Given the description of an element on the screen output the (x, y) to click on. 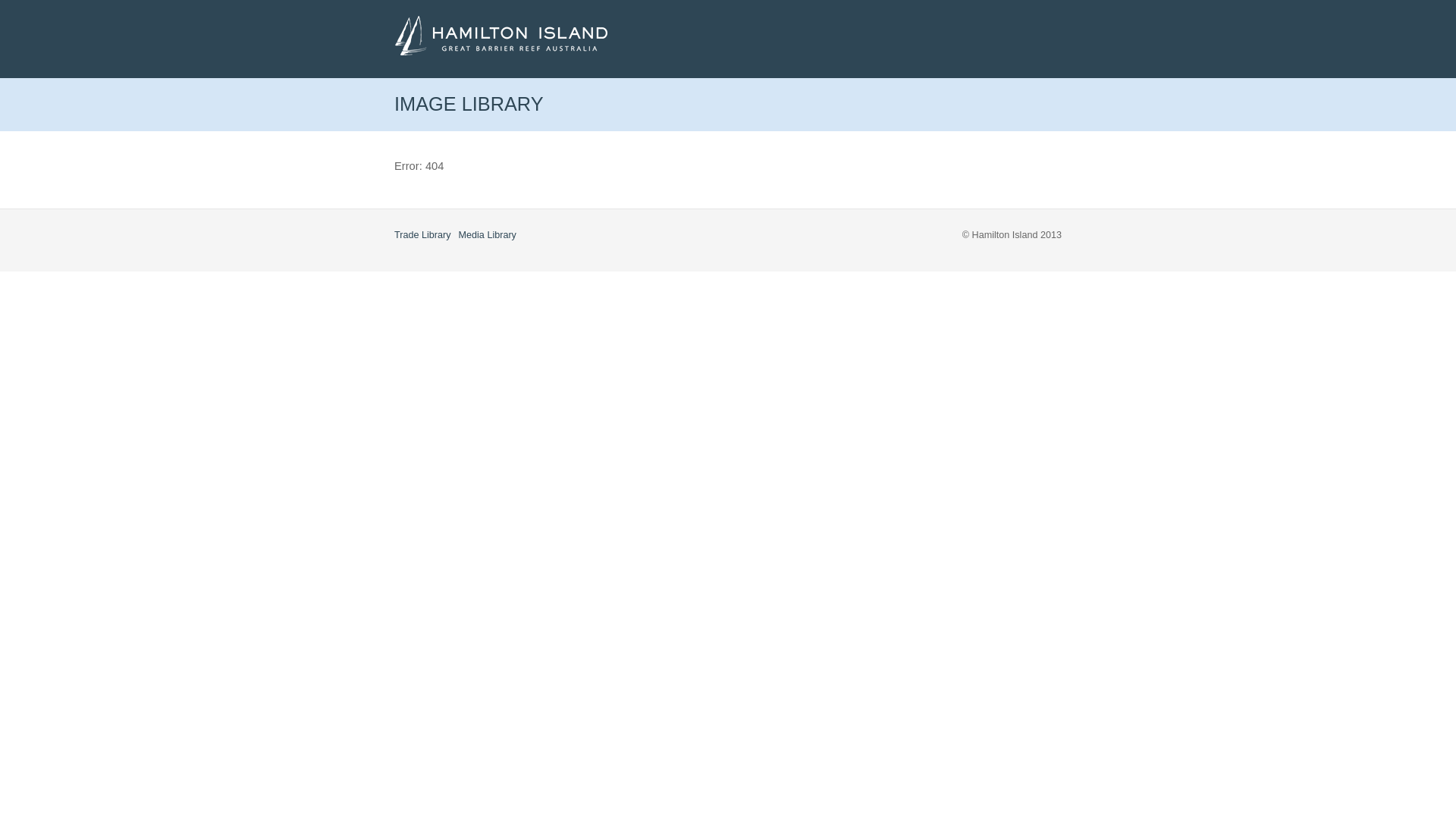
Media Library Element type: text (487, 234)
Trade Library Element type: text (422, 234)
